Given the description of an element on the screen output the (x, y) to click on. 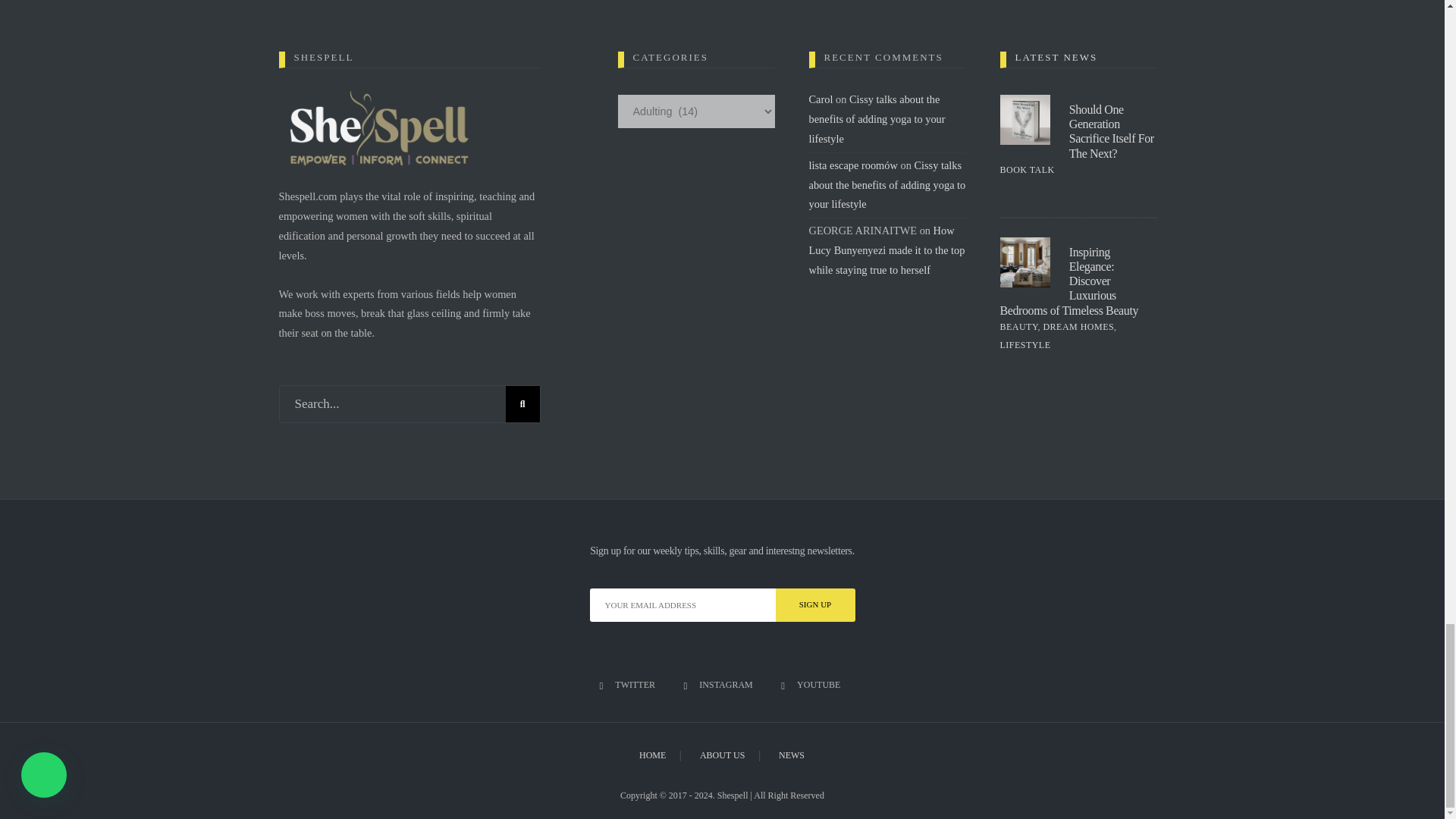
Instagram (721, 685)
Twitter (629, 685)
Sign up (814, 604)
Search... (409, 403)
Should One Generation Sacrifice Itself For The Next? (1111, 131)
Should One Generation Sacrifice Itself For The Next? (1023, 119)
YouTube (812, 685)
